Given the description of an element on the screen output the (x, y) to click on. 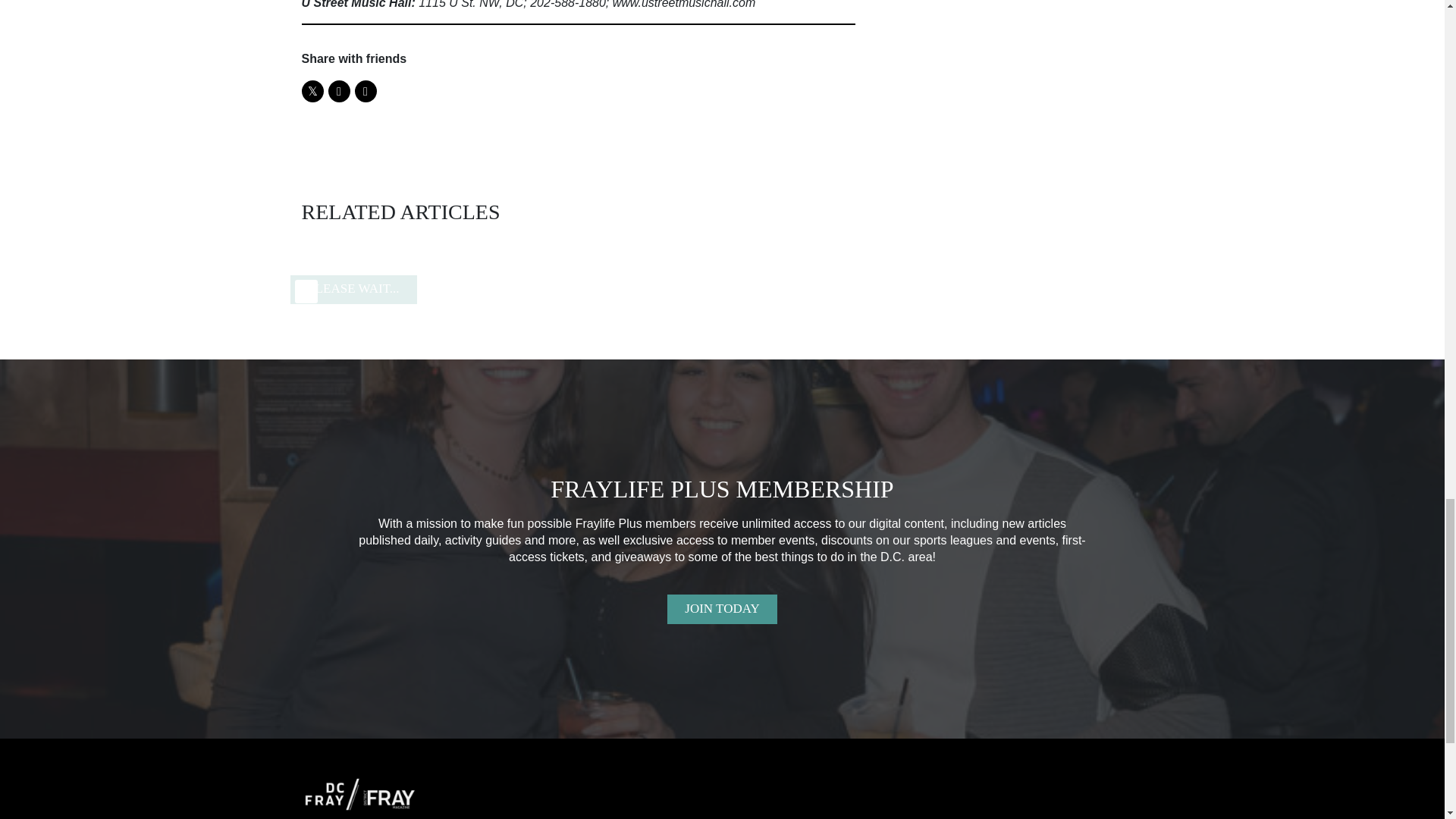
Facebook share (338, 91)
linkedin Share (366, 91)
Twitter share (312, 91)
